Given the description of an element on the screen output the (x, y) to click on. 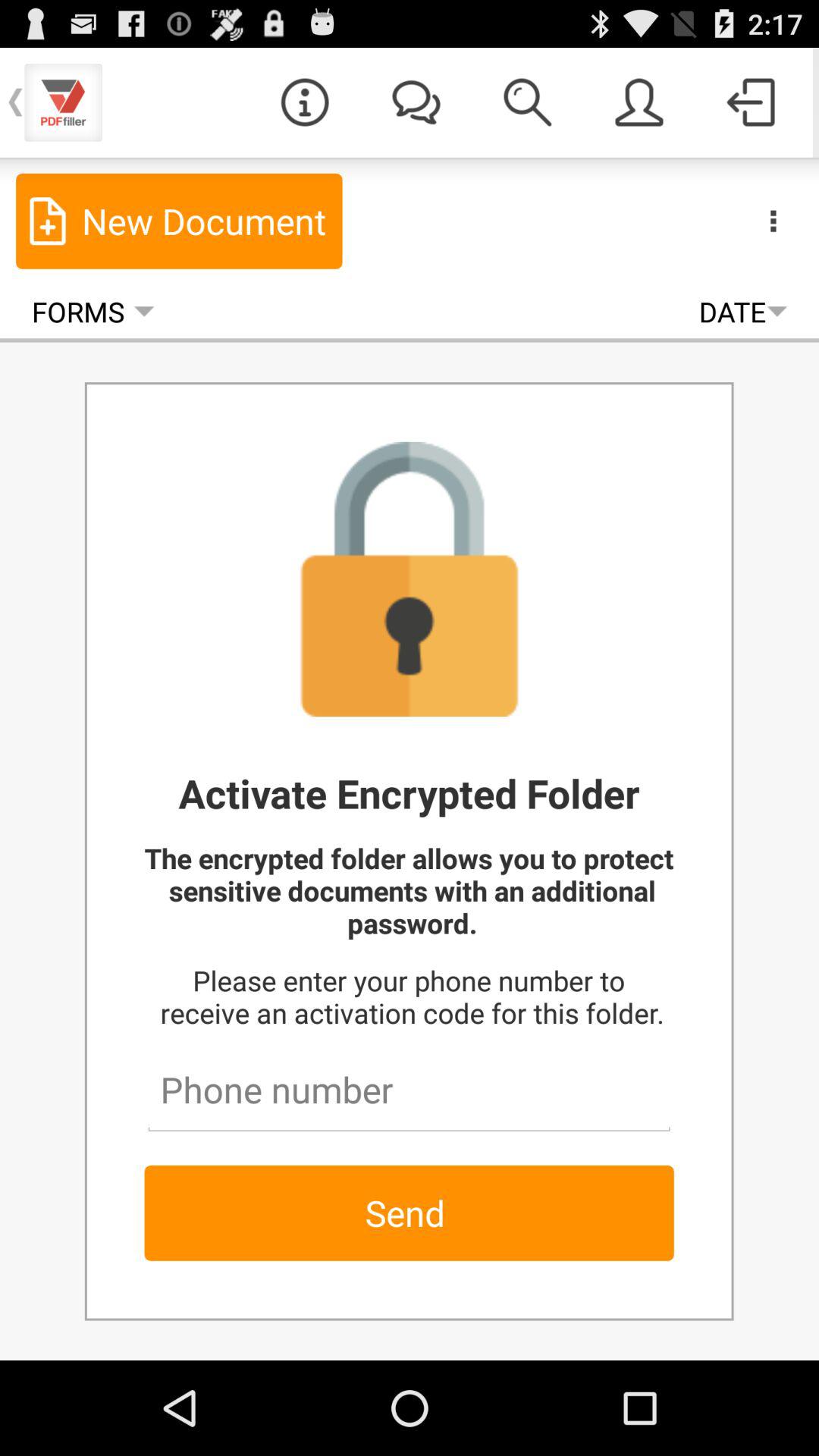
turn on date (743, 311)
